Given the description of an element on the screen output the (x, y) to click on. 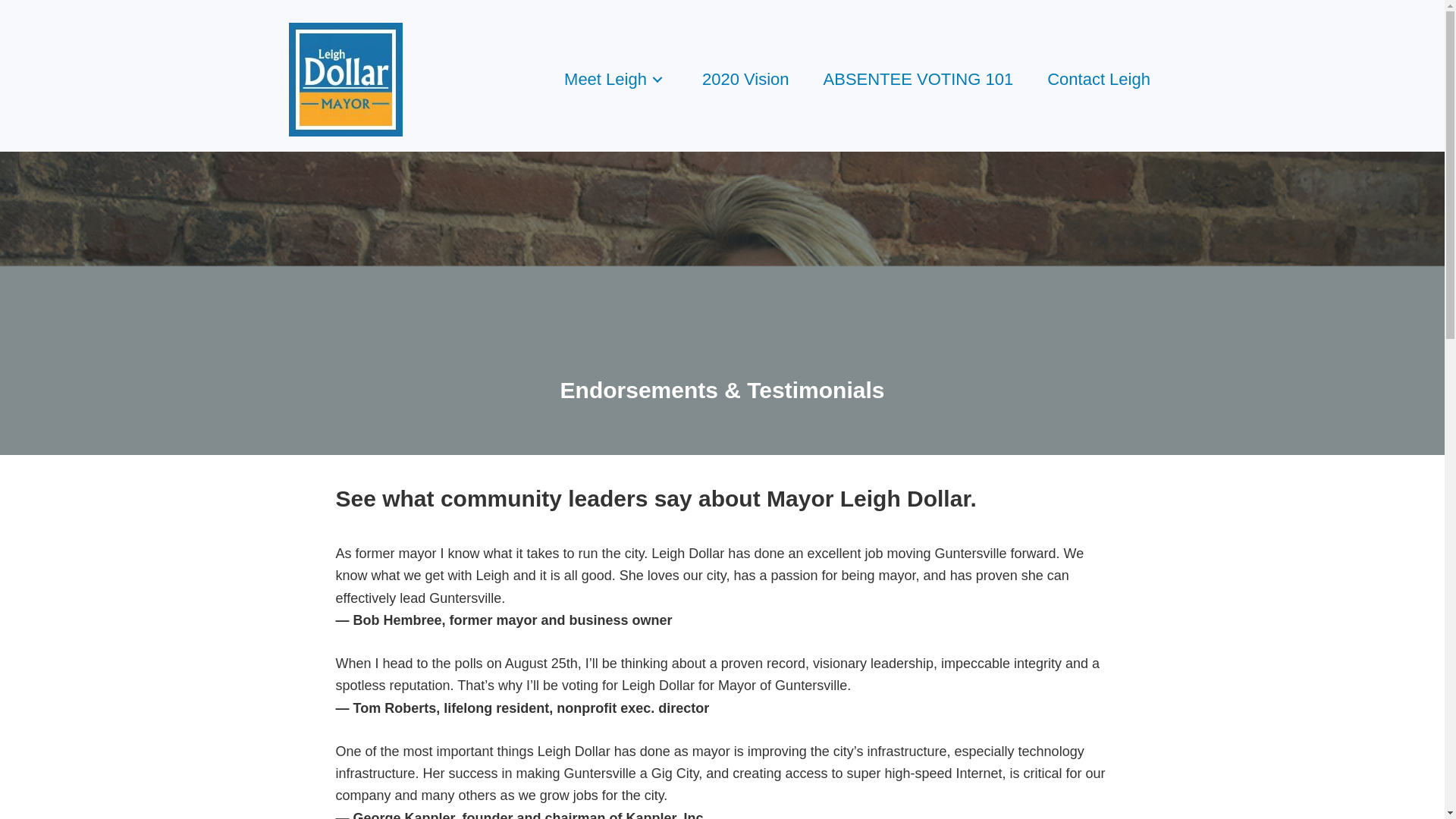
ABSENTEE VOTING 101 (918, 79)
Meet Leigh (616, 79)
2020 Vision (745, 79)
Contact Leigh (1098, 79)
